Given the description of an element on the screen output the (x, y) to click on. 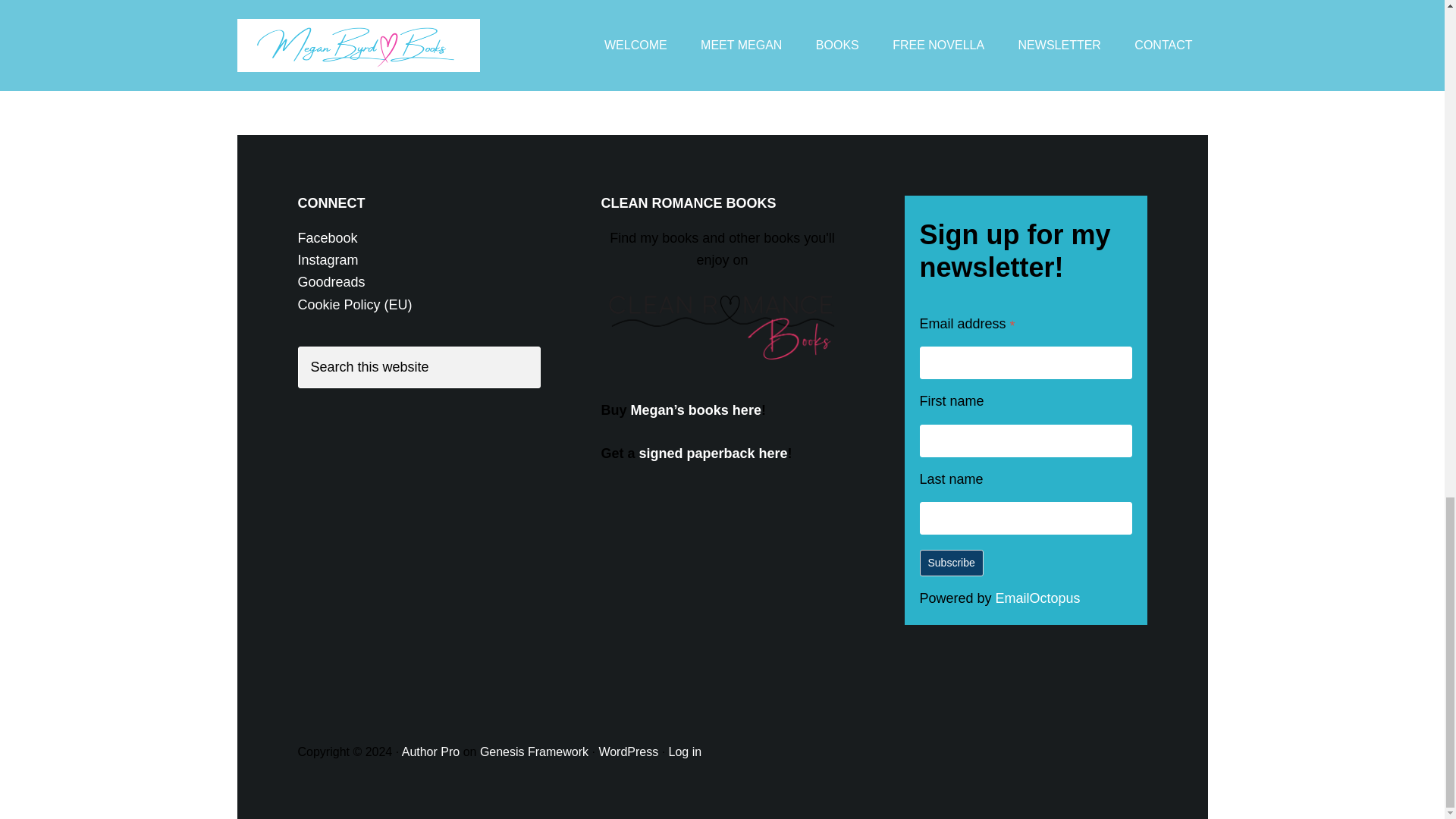
EmailOctopus (1037, 598)
Facebook (326, 237)
signed paperback here (713, 453)
Instagram (327, 259)
WordPress (628, 751)
Genesis Framework (534, 751)
Author Pro (430, 751)
Log in (684, 751)
Subscribe (950, 562)
Goodreads (331, 281)
